Given the description of an element on the screen output the (x, y) to click on. 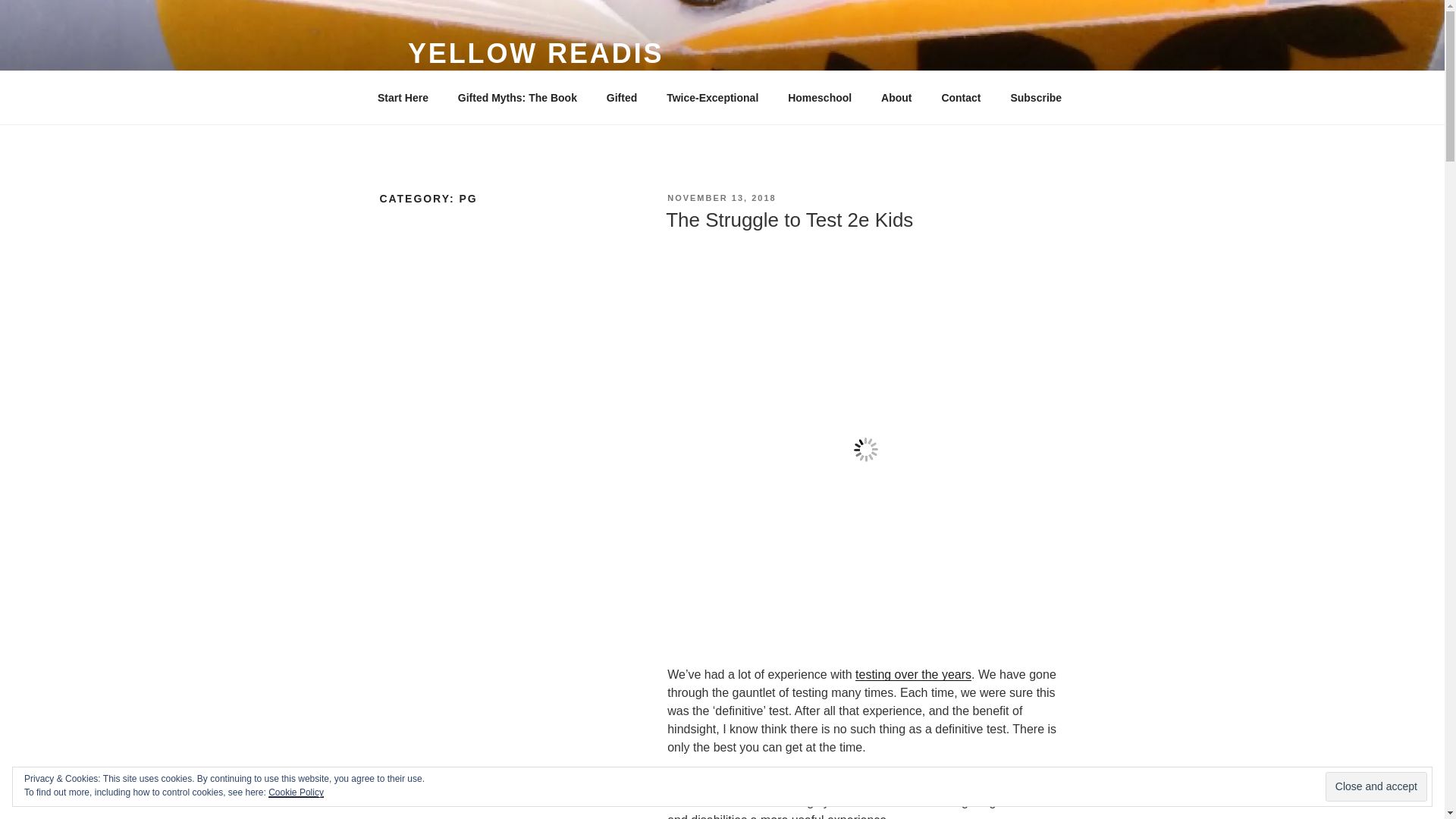
Close and accept (1375, 786)
testing over the years (913, 674)
Twice-Exceptional (712, 97)
NOVEMBER 13, 2018 (721, 197)
Start Here (402, 97)
Homeschool (819, 97)
About (895, 97)
Subscribe (1036, 97)
The Struggle to Test 2e Kids (788, 219)
YELLOW READIS (535, 52)
